Given the description of an element on the screen output the (x, y) to click on. 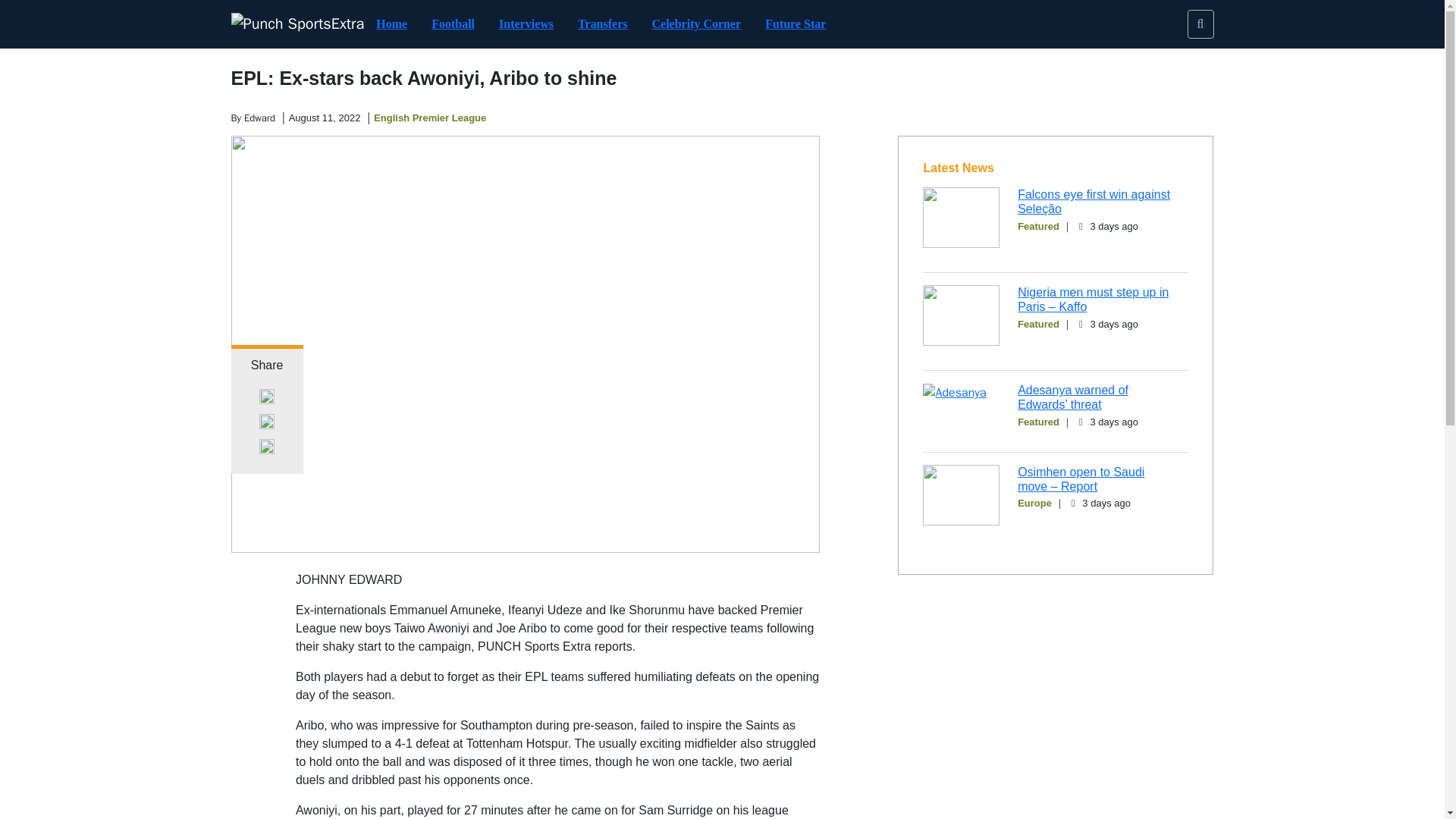
Home (391, 23)
Football (452, 23)
Transfers (602, 23)
Interviews (526, 23)
Celebrity Corner (695, 23)
Future Star (795, 23)
